Given the description of an element on the screen output the (x, y) to click on. 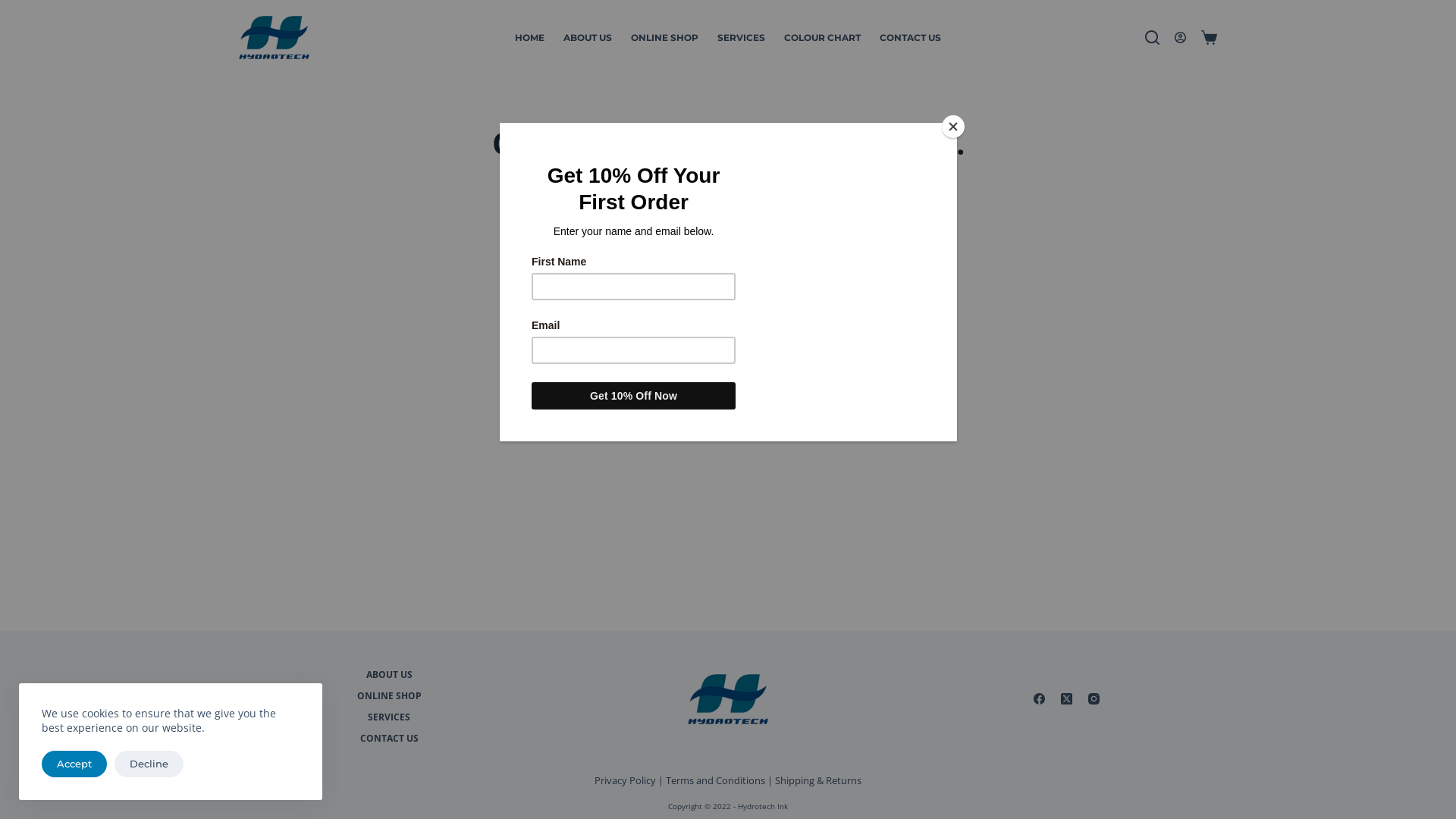
CONTACT US Element type: text (389, 738)
Search for... Element type: hover (727, 242)
Skip to content Element type: text (15, 7)
COLOUR CHART Element type: text (822, 37)
ONLINE SHOP Element type: text (389, 696)
SERVICES Element type: text (741, 37)
HOME Element type: text (529, 37)
Privacy Policy Element type: text (624, 780)
CONTACT US Element type: text (910, 37)
ABOUT US Element type: text (587, 37)
ONLINE SHOP Element type: text (664, 37)
Terms and Conditions Element type: text (715, 780)
ABOUT US Element type: text (389, 674)
Accept Element type: text (73, 763)
Shipping & Returns Element type: text (818, 780)
Decline Element type: text (148, 763)
SERVICES Element type: text (389, 717)
